Given the description of an element on the screen output the (x, y) to click on. 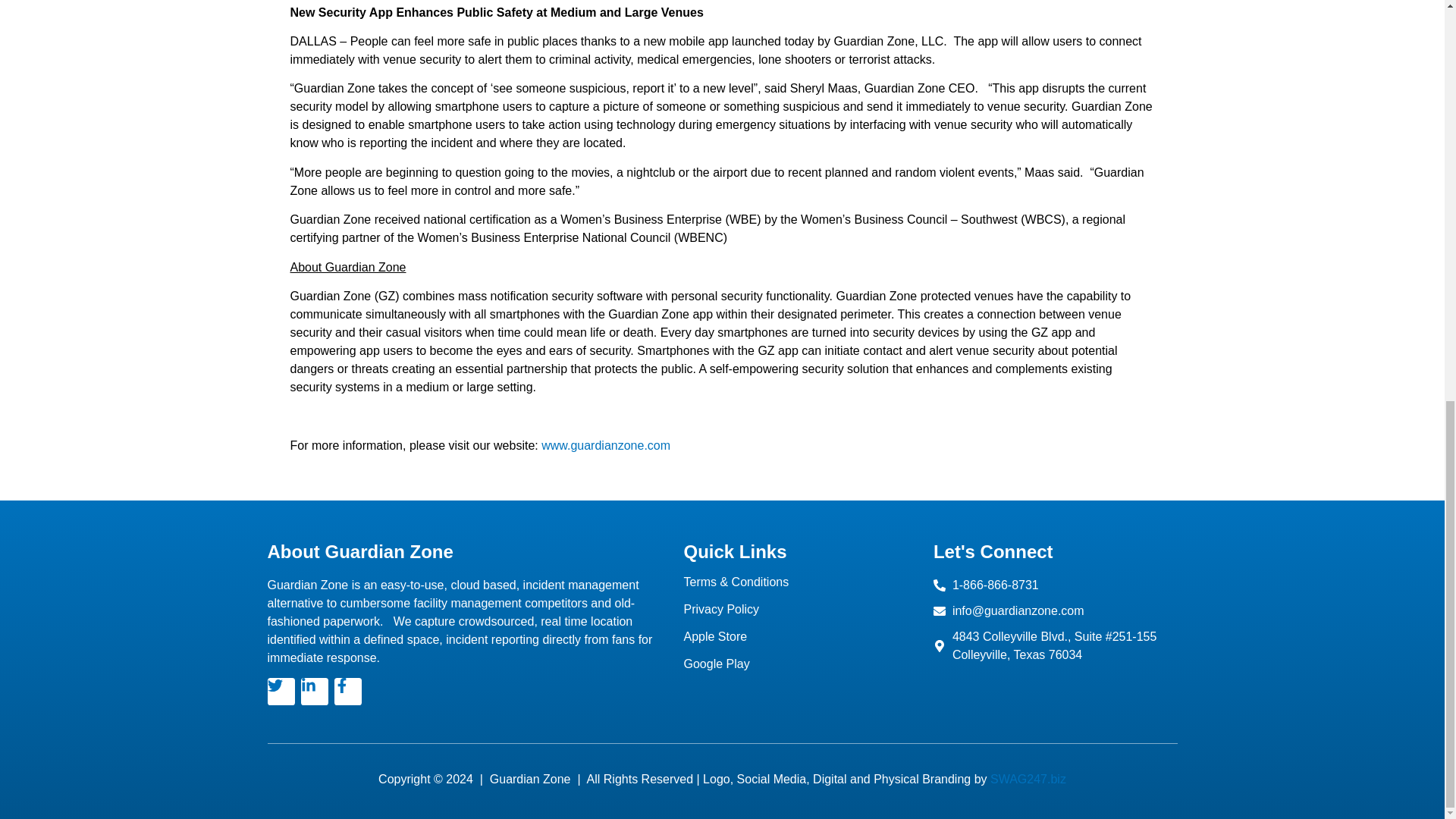
1-866-866-8731 (1053, 585)
www.guardianzone.com (605, 445)
Privacy Policy (801, 609)
Apple Store (801, 636)
SWAG247.biz (1027, 779)
Google Play (801, 664)
